Given the description of an element on the screen output the (x, y) to click on. 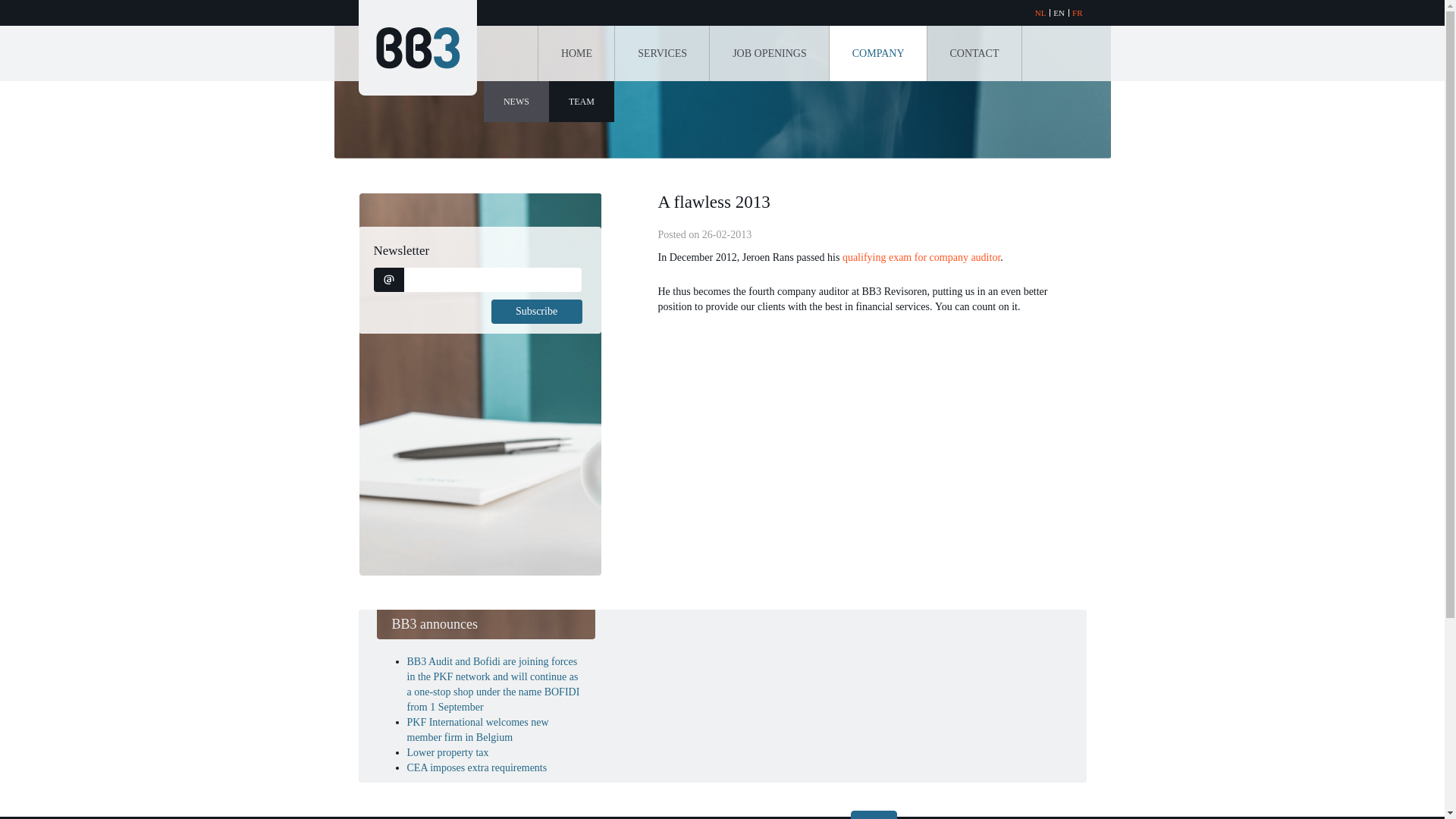
CEA imposes extra requirements Element type: text (476, 767)
COMPANY Element type: text (878, 53)
HOME Element type: text (576, 53)
Subscribe Element type: text (536, 311)
BB3 Revisoren Element type: text (416, 47)
JOB OPENINGS Element type: text (769, 53)
EN Element type: text (1058, 12)
PKF International welcomes new member firm in Belgium Element type: text (477, 729)
qualifying exam for company auditor Element type: text (921, 257)
TEAM Element type: text (581, 101)
FR Element type: text (1077, 12)
Lower property tax Element type: text (447, 752)
CONTACT Element type: text (973, 53)
NL Element type: text (1040, 12)
SERVICES Element type: text (662, 53)
NEWS Element type: text (516, 101)
